Given the description of an element on the screen output the (x, y) to click on. 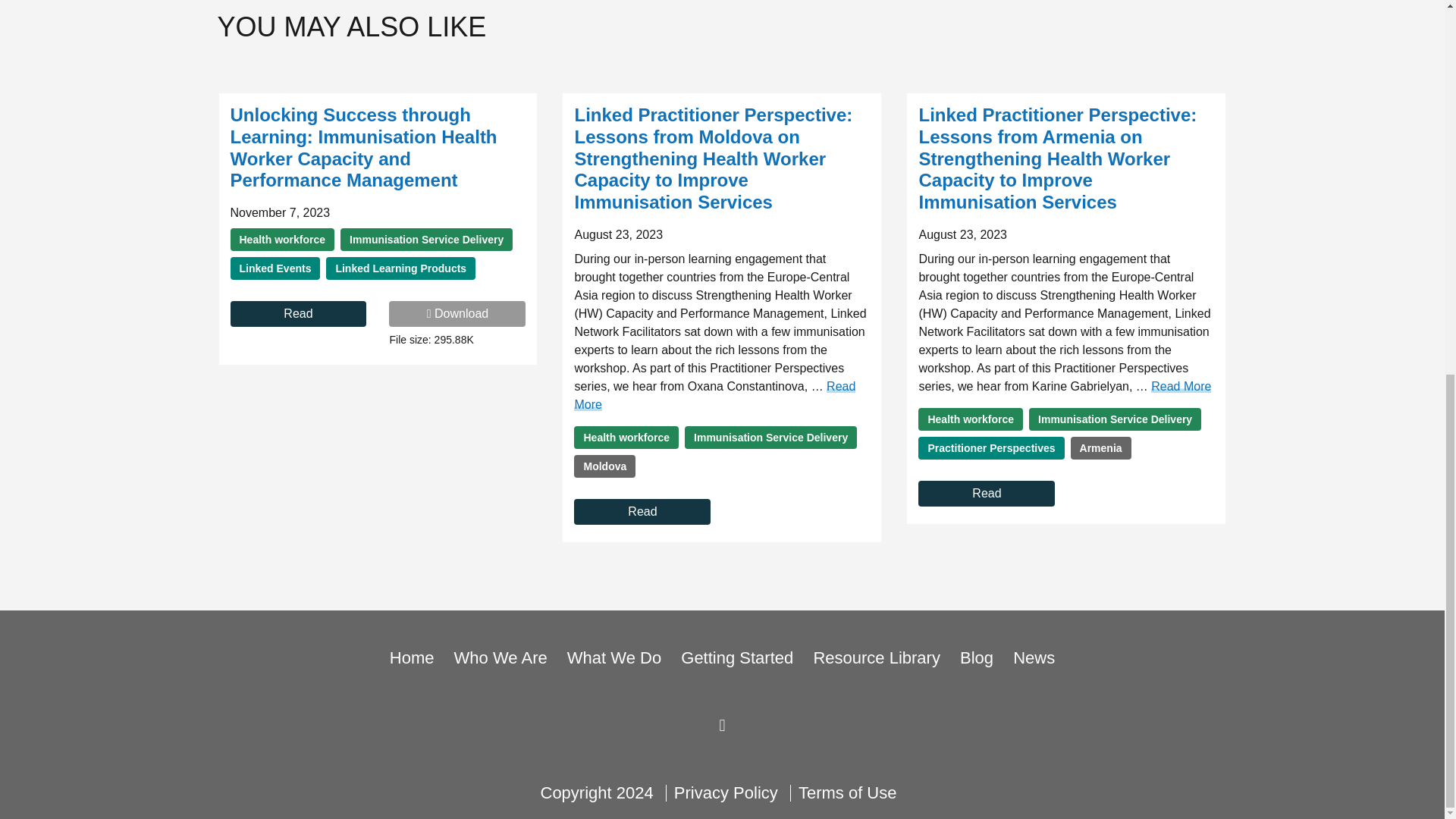
linked-events (275, 268)
Immunisation Service Delivery (426, 239)
Health workforce (282, 239)
Read (298, 313)
health-workforce (282, 239)
immunisation-service-delivery (770, 436)
Linked Events (275, 268)
immunisation-service-delivery (426, 239)
Linked Learning Products (401, 268)
health-workforce (625, 436)
linked-learning-products (401, 268)
